Given the description of an element on the screen output the (x, y) to click on. 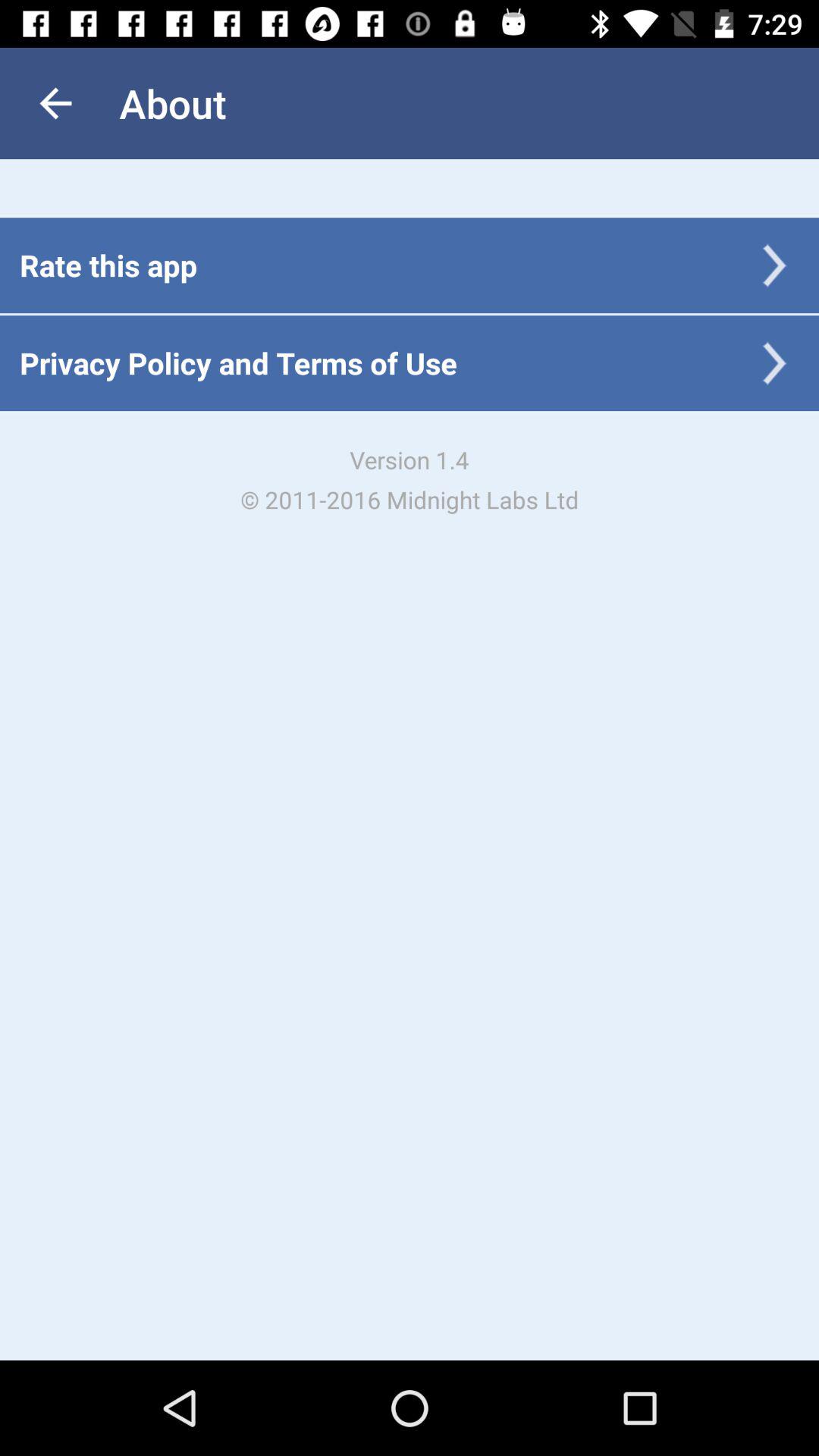
turn off the item above the rate this app icon (55, 103)
